Given the description of an element on the screen output the (x, y) to click on. 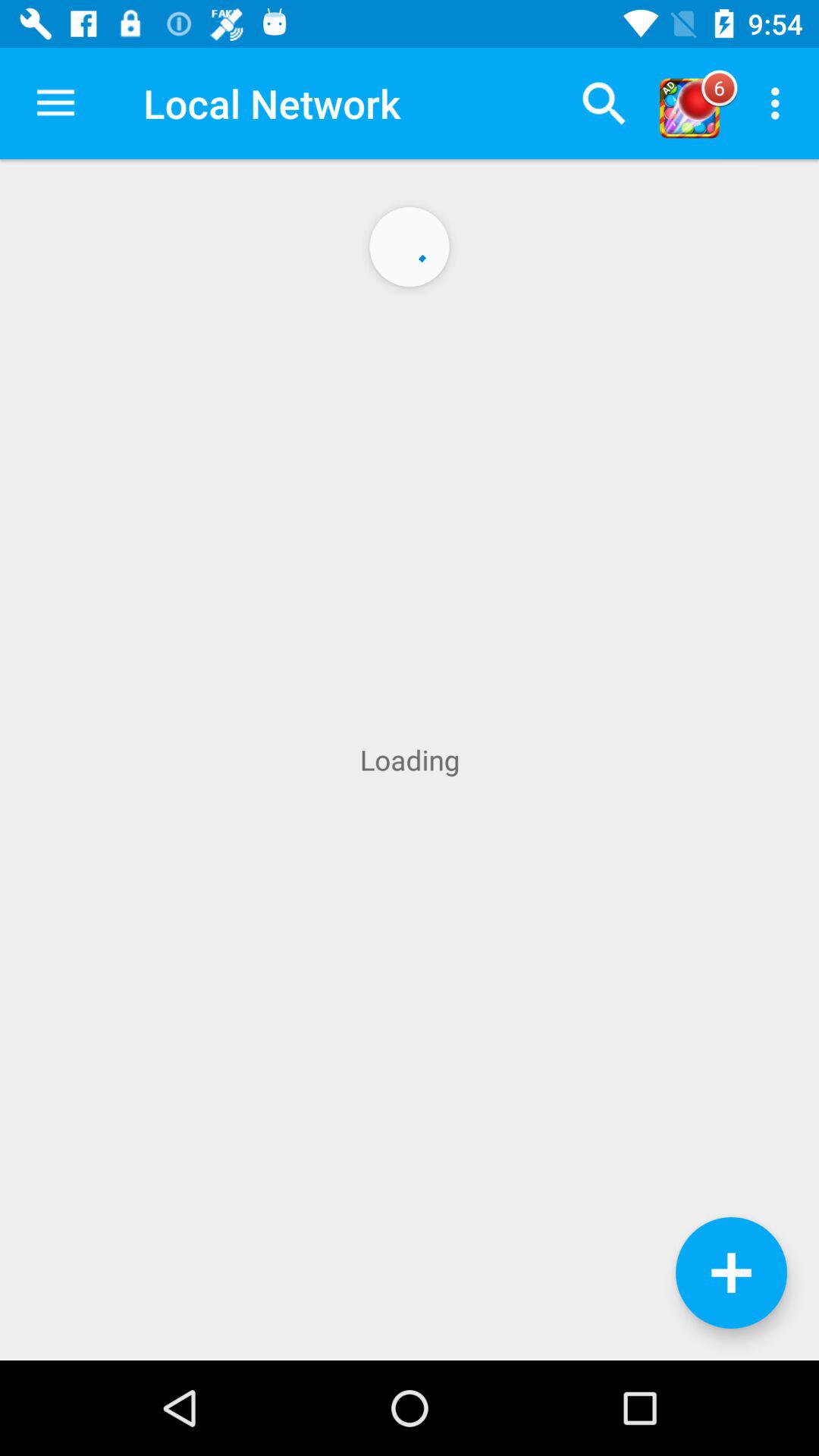
choose the icon above loading icon (779, 103)
